Given the description of an element on the screen output the (x, y) to click on. 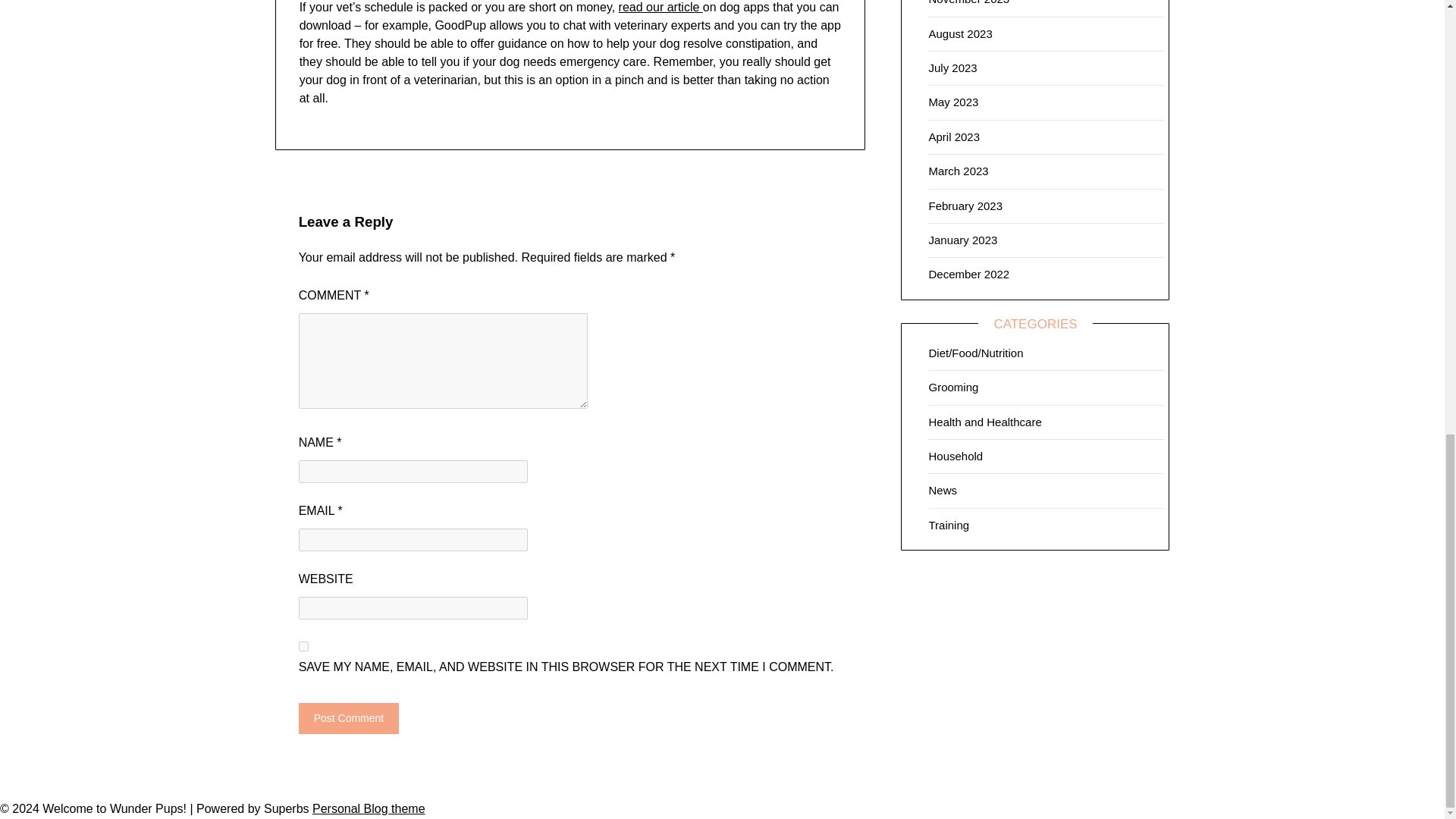
January 2023 (962, 239)
April 2023 (953, 136)
Post Comment (348, 717)
July 2023 (952, 67)
read our article (660, 6)
February 2023 (965, 205)
May 2023 (953, 101)
November 2023 (968, 2)
yes (303, 646)
Post Comment (348, 717)
August 2023 (959, 33)
March 2023 (958, 170)
